Given the description of an element on the screen output the (x, y) to click on. 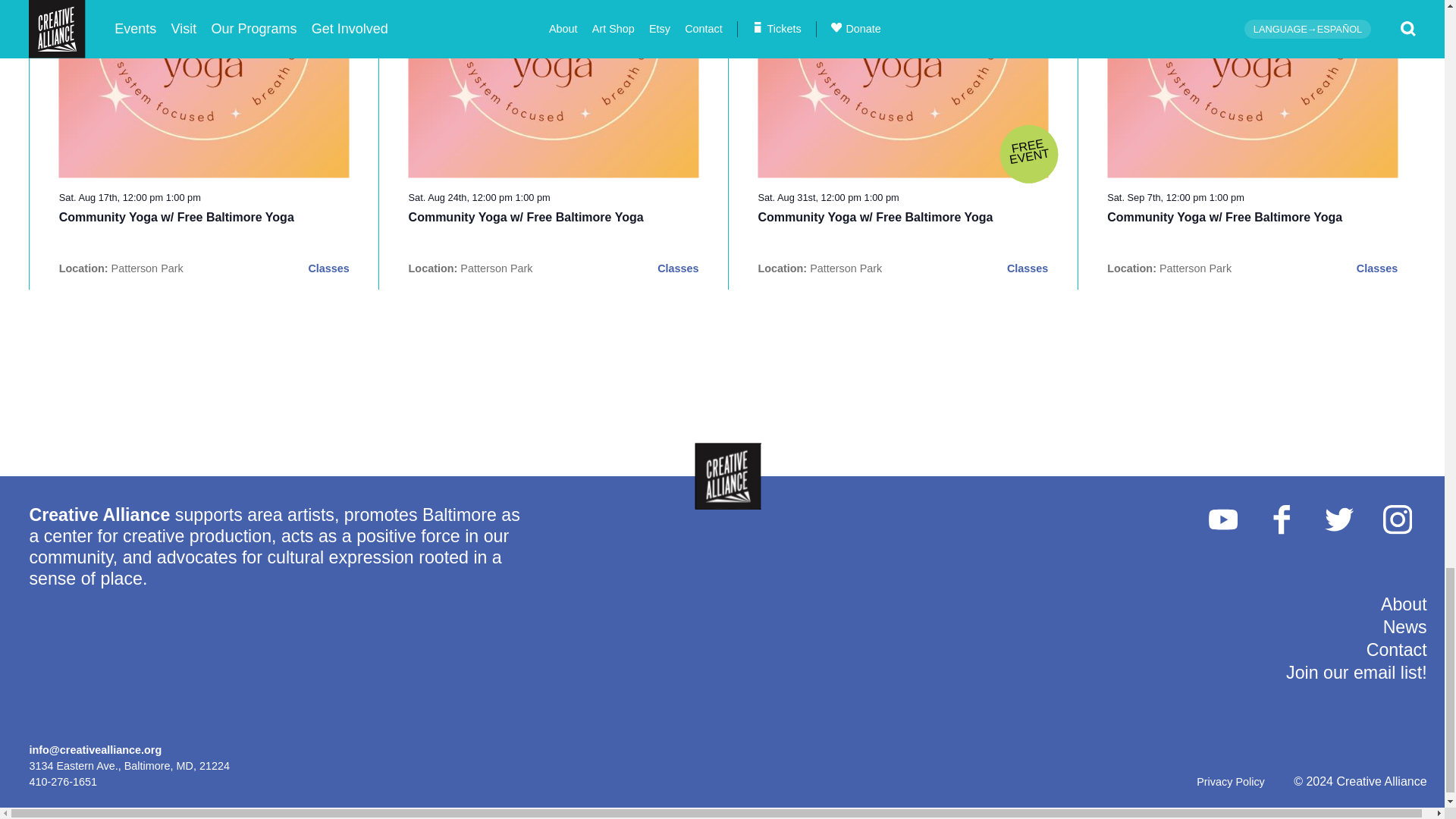
Drop-In Lantern Making (526, 216)
Drop-In Lantern Making (874, 216)
Drop-In Lantern Making (1224, 216)
Drop-In Lantern Making (176, 216)
